Given the description of an element on the screen output the (x, y) to click on. 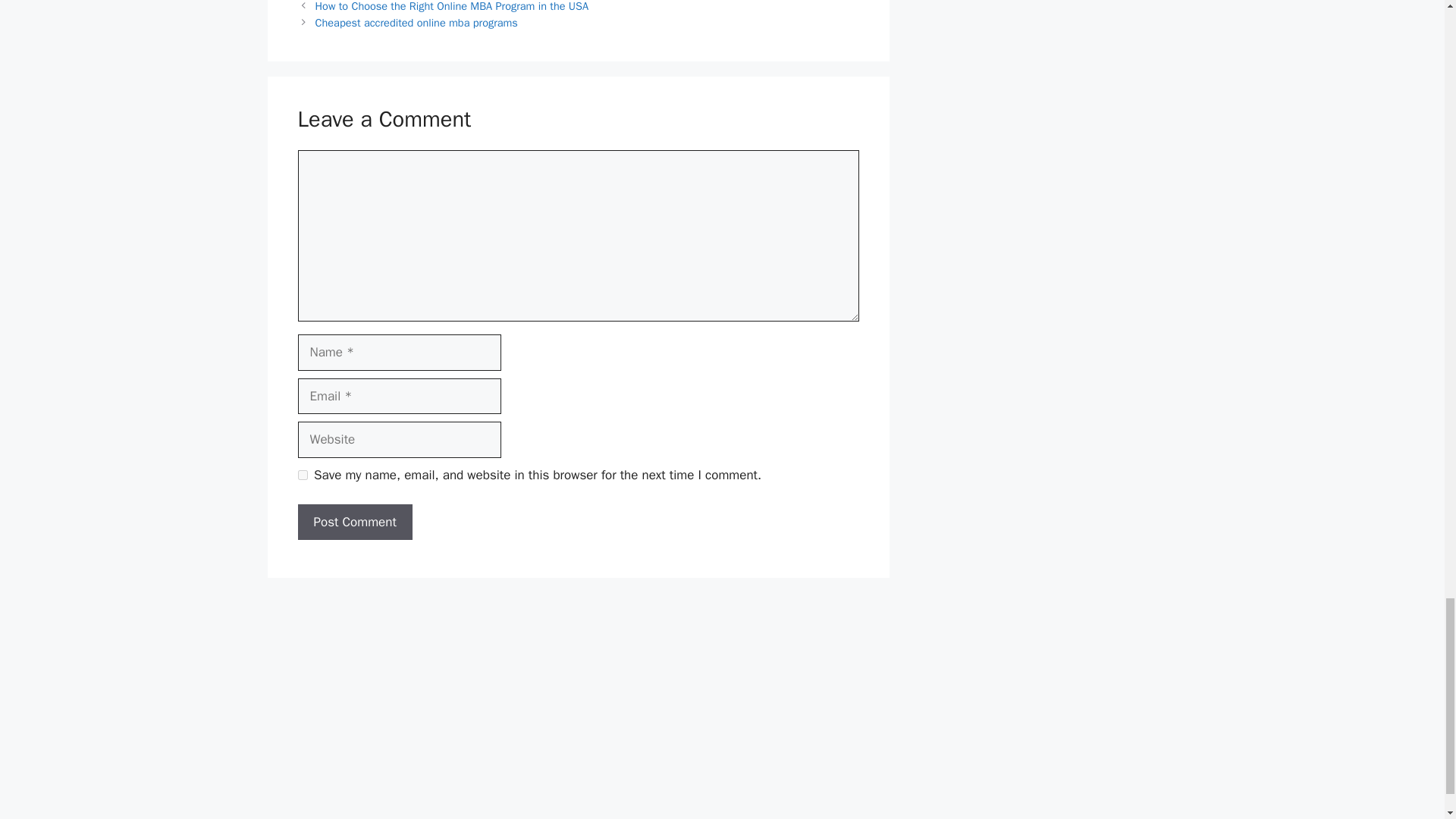
Post Comment (354, 522)
Post Comment (354, 522)
Cheapest accredited online mba programs (416, 22)
yes (302, 474)
How to Choose the Right Online MBA Program in the USA (451, 6)
